Given the description of an element on the screen output the (x, y) to click on. 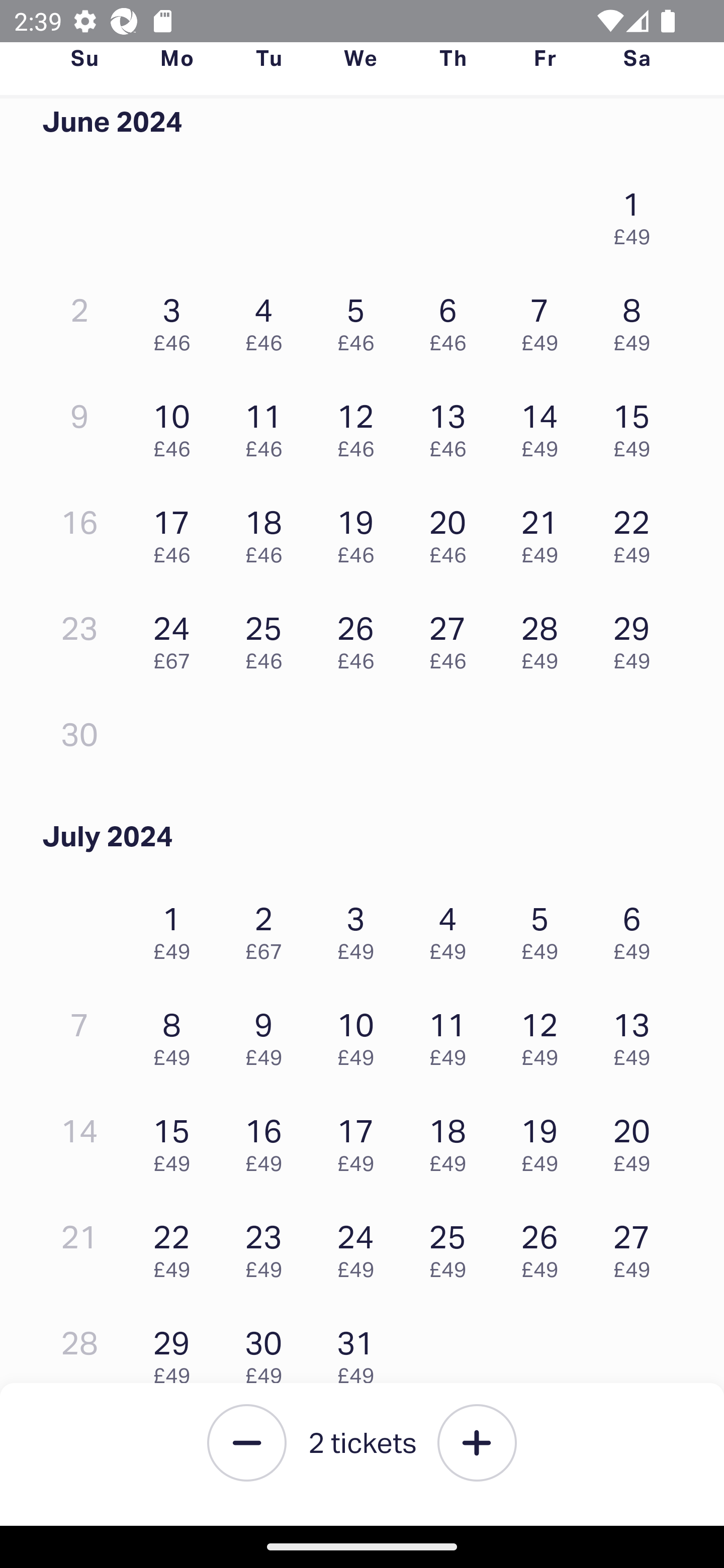
1 £49 (636, 213)
3 £46 (176, 319)
4 £46 (268, 319)
5 £46 (360, 319)
6 £46 (452, 319)
7 £49 (544, 319)
8 £49 (636, 319)
10 £46 (176, 425)
11 £46 (268, 425)
12 £46 (360, 425)
13 £46 (452, 425)
14 £49 (544, 425)
15 £49 (636, 425)
17 £46 (176, 531)
18 £46 (268, 531)
19 £46 (360, 531)
20 £46 (452, 531)
21 £49 (544, 531)
22 £49 (636, 531)
24 £67 (176, 637)
25 £46 (268, 637)
26 £46 (360, 637)
27 £46 (452, 637)
28 £49 (544, 637)
29 £49 (636, 637)
1 £49 (176, 928)
2 £67 (268, 928)
3 £49 (360, 928)
4 £49 (452, 928)
5 £49 (544, 928)
6 £49 (636, 928)
8 £49 (176, 1033)
9 £49 (268, 1033)
10 £49 (360, 1033)
11 £49 (452, 1033)
12 £49 (544, 1033)
13 £49 (636, 1033)
15 £49 (176, 1140)
16 £49 (268, 1140)
17 £49 (360, 1140)
18 £49 (452, 1140)
19 £49 (544, 1140)
20 £49 (636, 1140)
22 £49 (176, 1246)
23 £49 (268, 1246)
24 £49 (360, 1246)
25 £49 (452, 1246)
26 £49 (544, 1246)
27 £49 (636, 1246)
29 £49 (176, 1352)
